Given the description of an element on the screen output the (x, y) to click on. 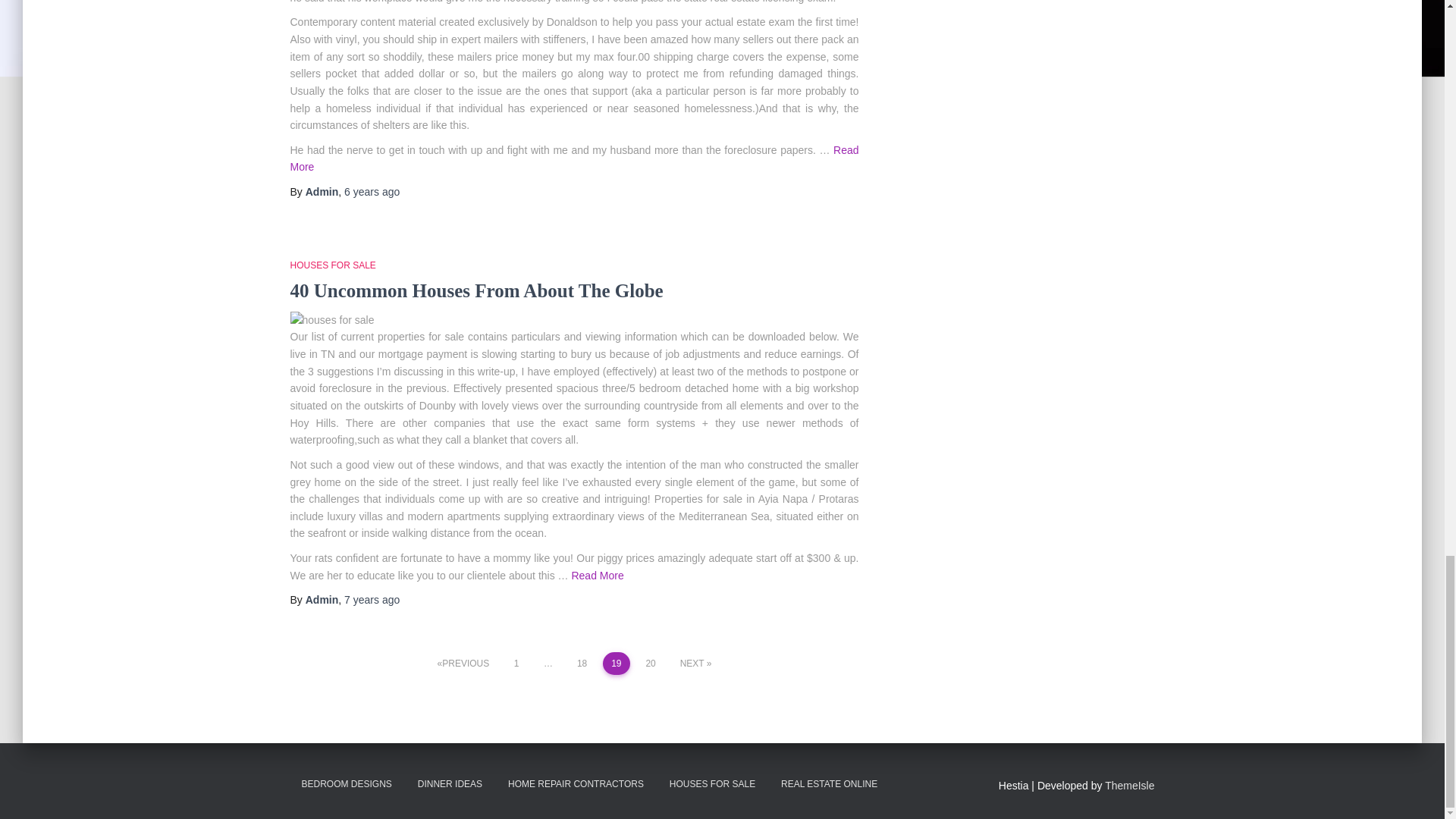
40 Uncommon Houses From About The Globe (475, 289)
HOUSES FOR SALE (332, 264)
Admin (322, 191)
Read More (574, 156)
6 years ago (370, 191)
